Given the description of an element on the screen output the (x, y) to click on. 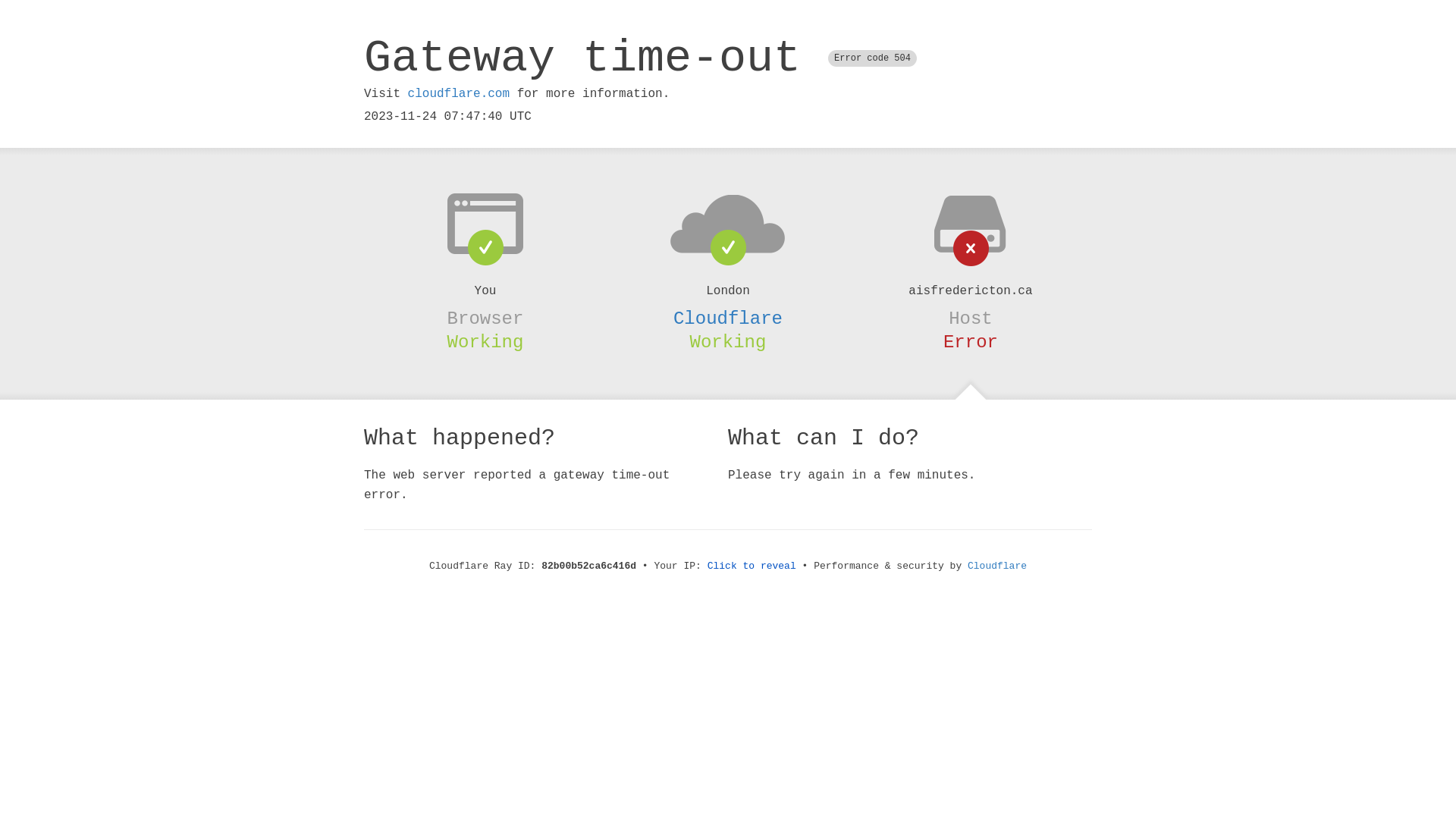
Click to reveal Element type: text (751, 565)
Cloudflare Element type: text (727, 318)
Cloudflare Element type: text (996, 565)
cloudflare.com Element type: text (458, 93)
